Given the description of an element on the screen output the (x, y) to click on. 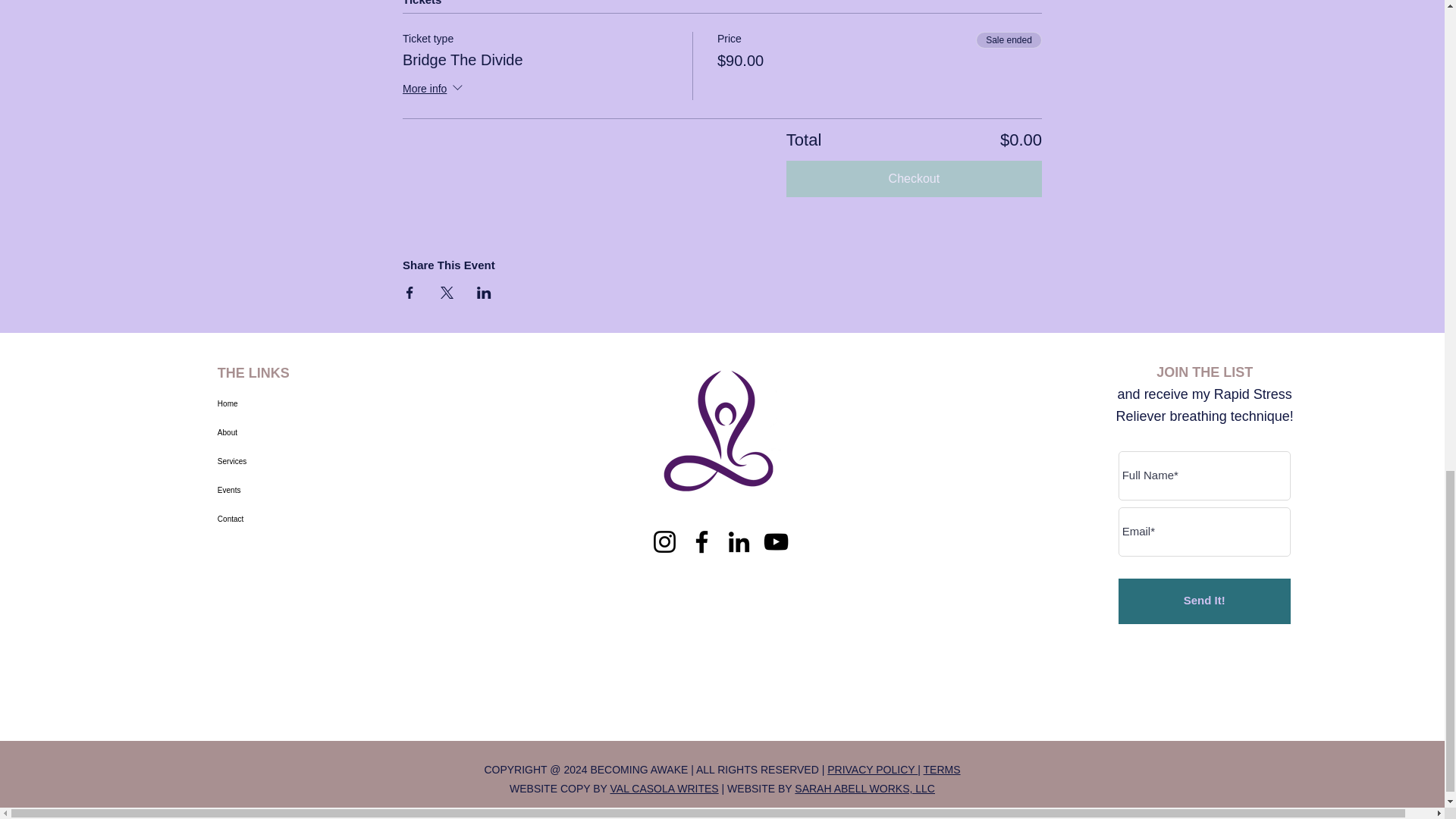
SARAH ABELL WORKS, LLC (864, 788)
Services (270, 461)
PRIVACY POLICY  (872, 769)
Checkout (914, 178)
Send It! (1204, 601)
Home (270, 403)
More info (434, 89)
About (270, 432)
Rita-icon.png (720, 430)
Events (270, 490)
